Given the description of an element on the screen output the (x, y) to click on. 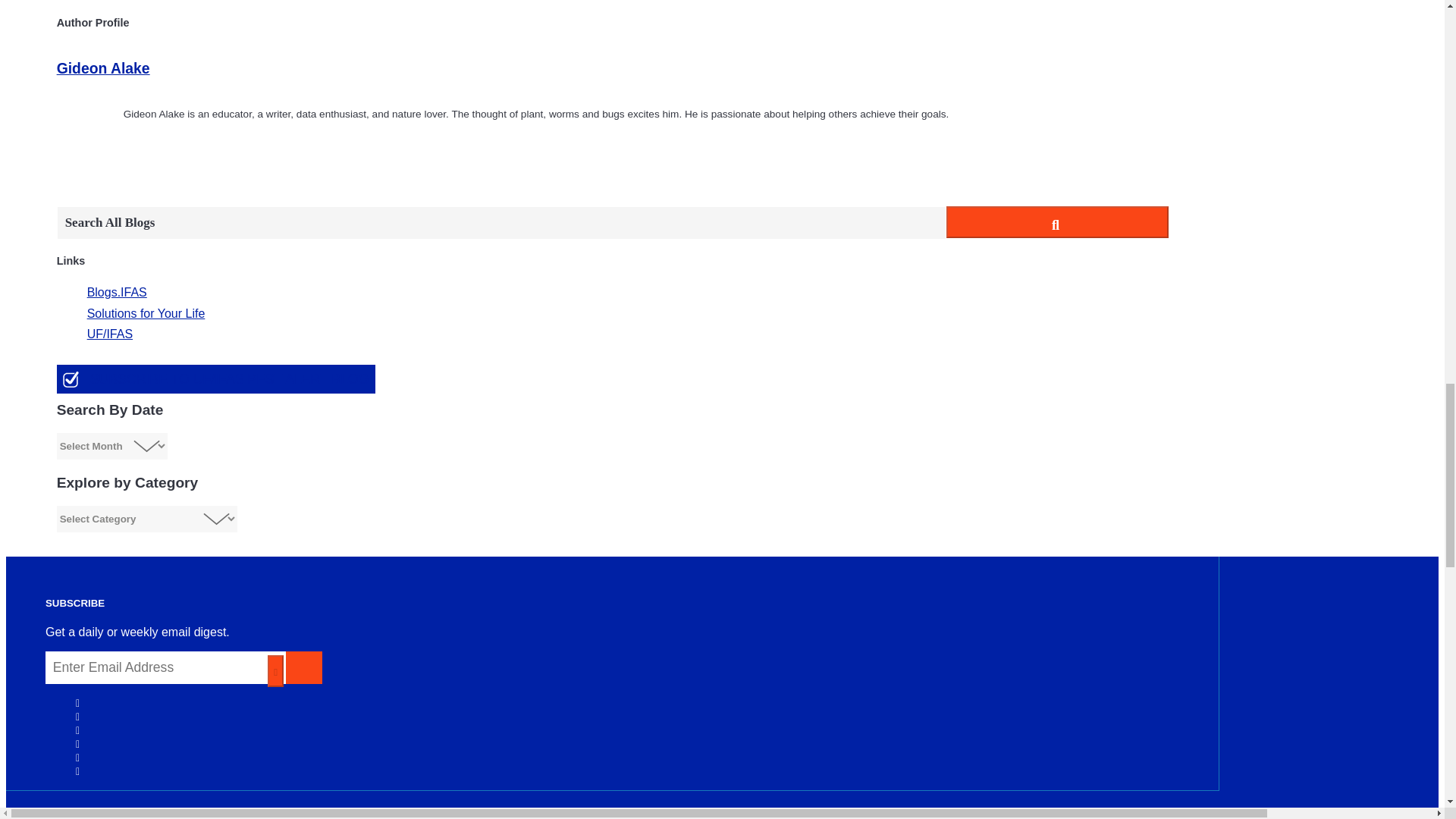
Search All Blogs (501, 222)
Enter Email Address (165, 667)
